Given the description of an element on the screen output the (x, y) to click on. 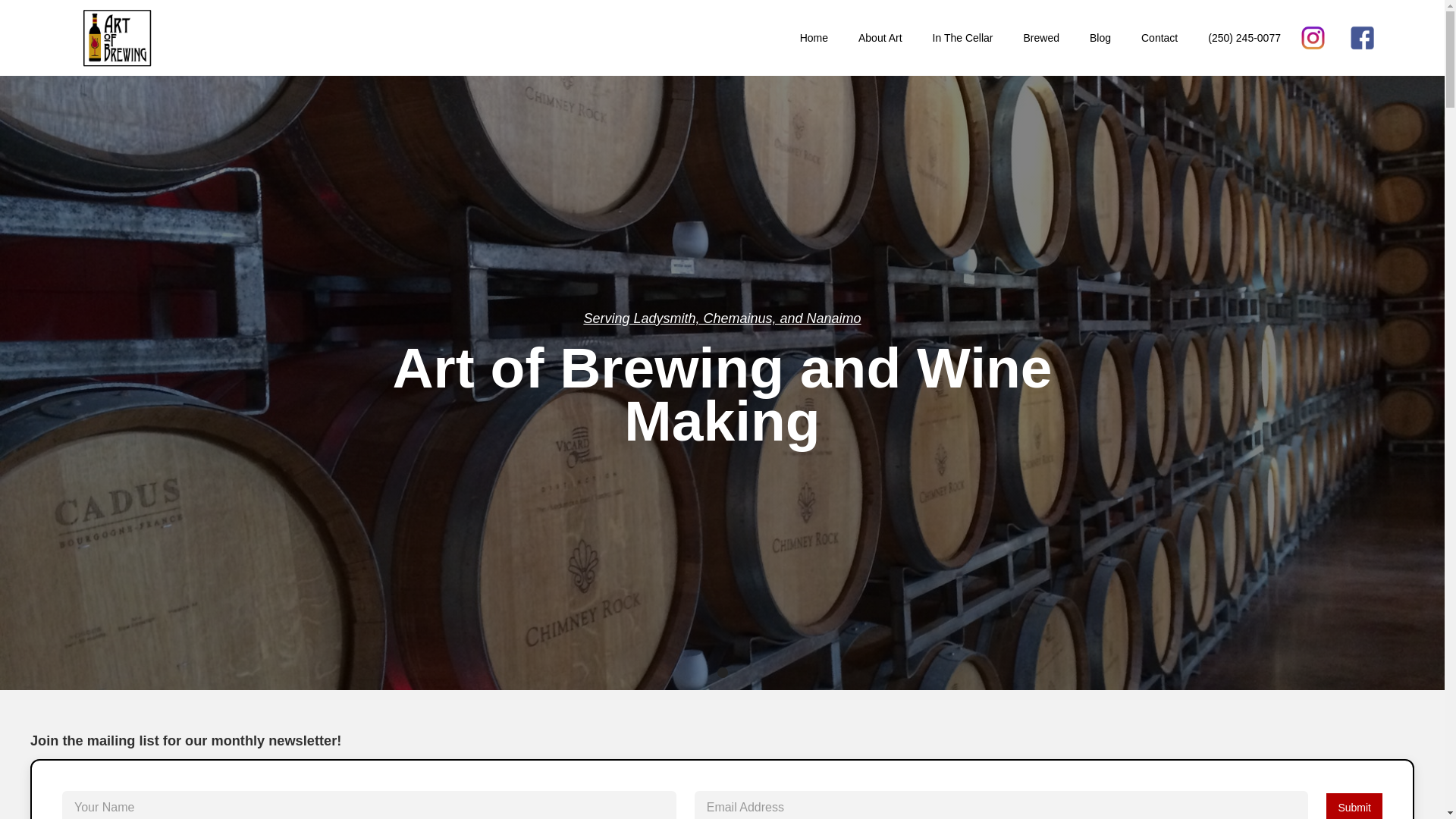
Blog Element type: text (1100, 37)
Brewed Element type: text (1040, 37)
Home Element type: text (813, 37)
About Art Element type: text (880, 37)
Contact Element type: text (1159, 37)
In The Cellar Element type: text (962, 37)
(250) 245-0077 Element type: text (1243, 37)
